Given the description of an element on the screen output the (x, y) to click on. 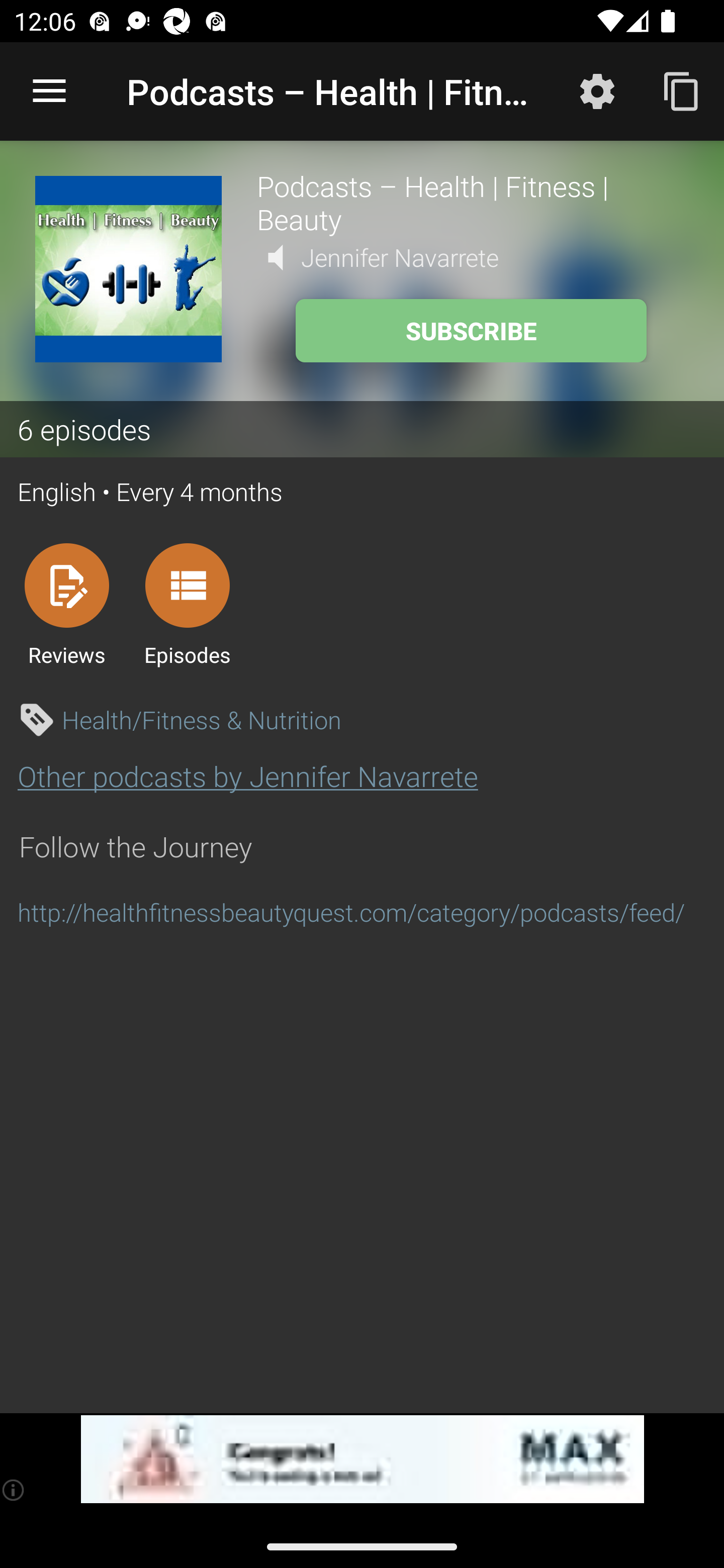
Open navigation sidebar (49, 91)
Settings (597, 90)
Copy feed url to clipboard (681, 90)
Podcasts – Health | Fitness | Beauty (472, 202)
SUBSCRIBE (470, 330)
Reviews (66, 604)
Episodes (187, 604)
Other podcasts by Jennifer Navarrete (247, 775)
app-monetization (362, 1459)
(i) (14, 1489)
